Given the description of an element on the screen output the (x, y) to click on. 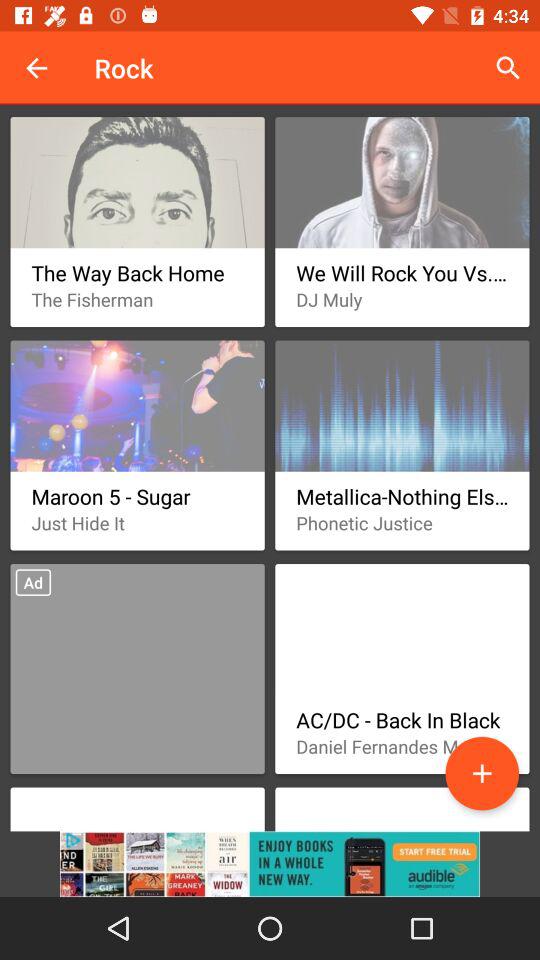
add the app (482, 773)
